Given the description of an element on the screen output the (x, y) to click on. 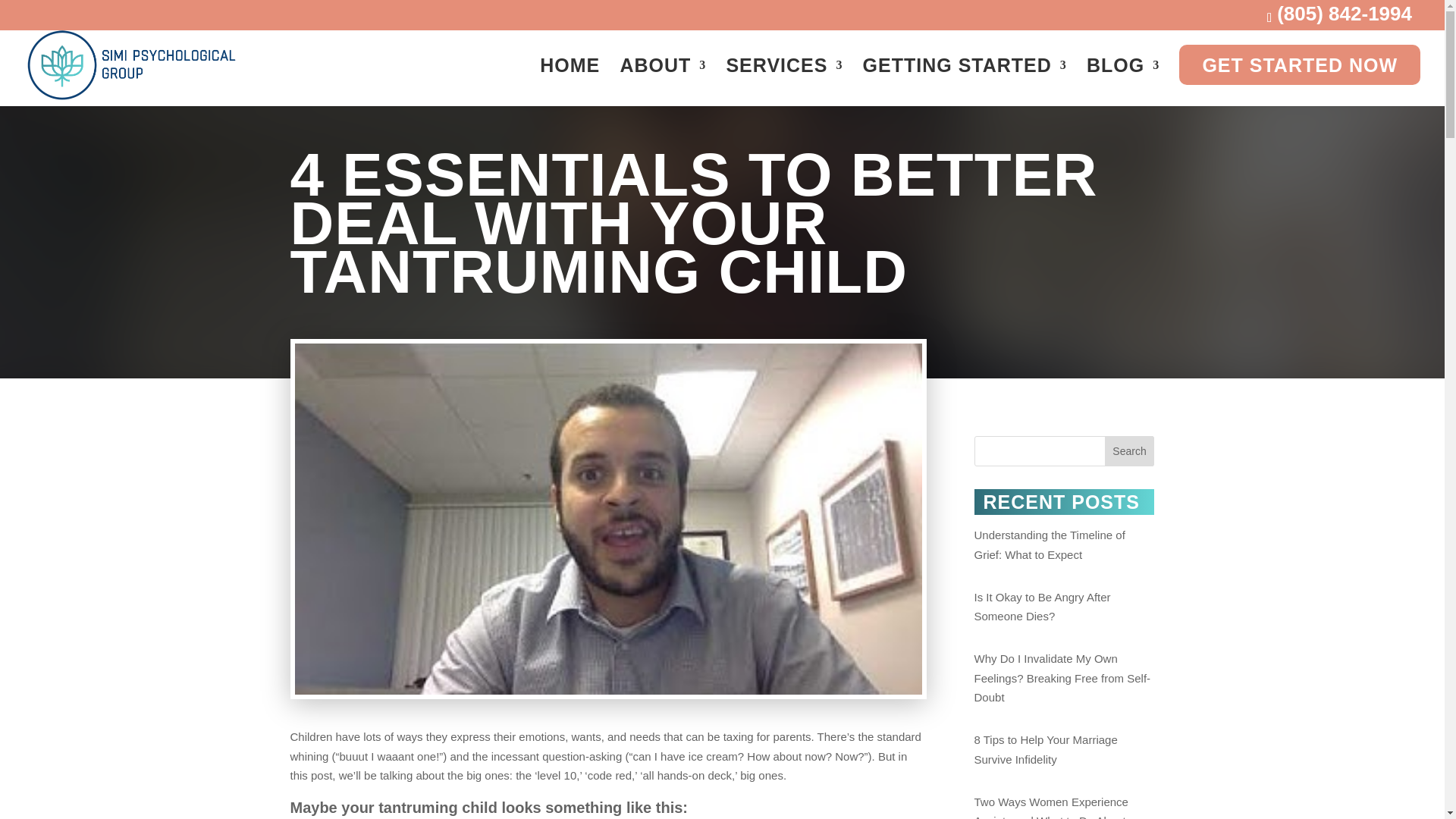
Search (1129, 450)
HOME (569, 78)
ABOUT (663, 78)
SERVICES (784, 78)
